Given the description of an element on the screen output the (x, y) to click on. 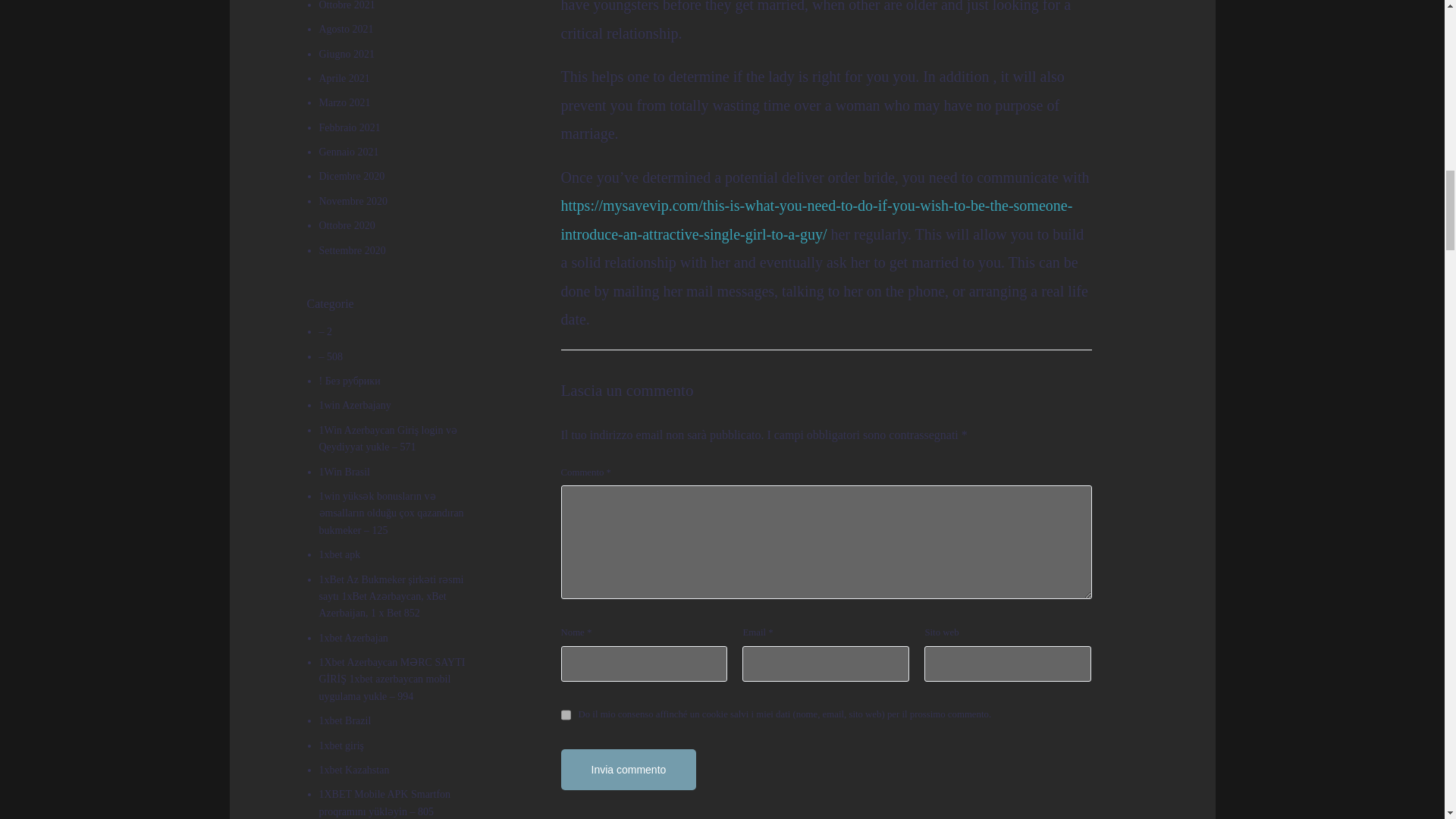
Invia commento (628, 769)
yes (565, 714)
Invia commento (628, 769)
